Given the description of an element on the screen output the (x, y) to click on. 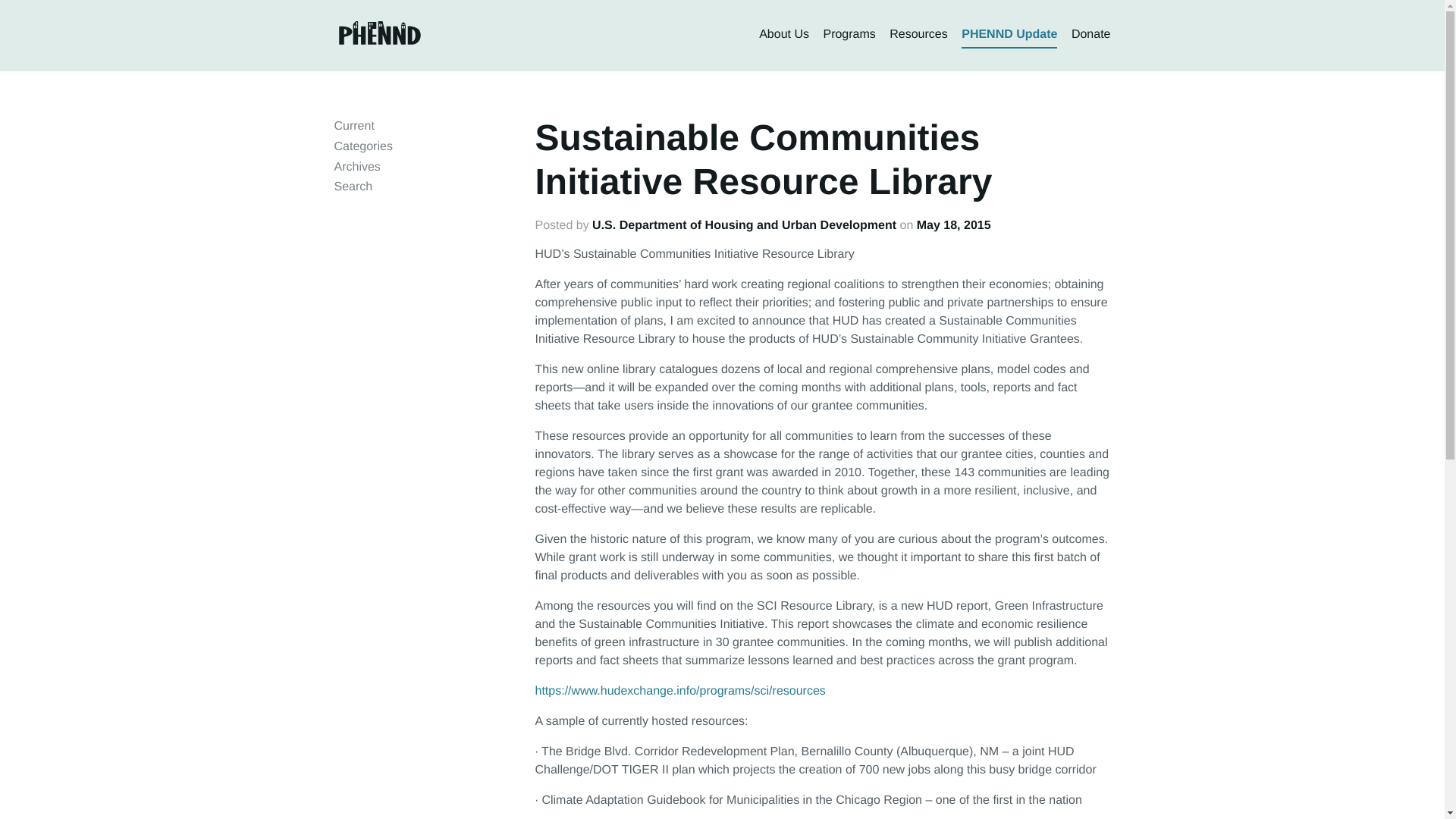
Current (353, 125)
U.S. Department of Housing and Urban Development (744, 225)
Archives (356, 166)
Programs (848, 34)
Resources (918, 34)
PHENND Update (1008, 35)
May 18, 2015 (954, 225)
Categories (362, 146)
Search (352, 186)
About Us (783, 34)
